Given the description of an element on the screen output the (x, y) to click on. 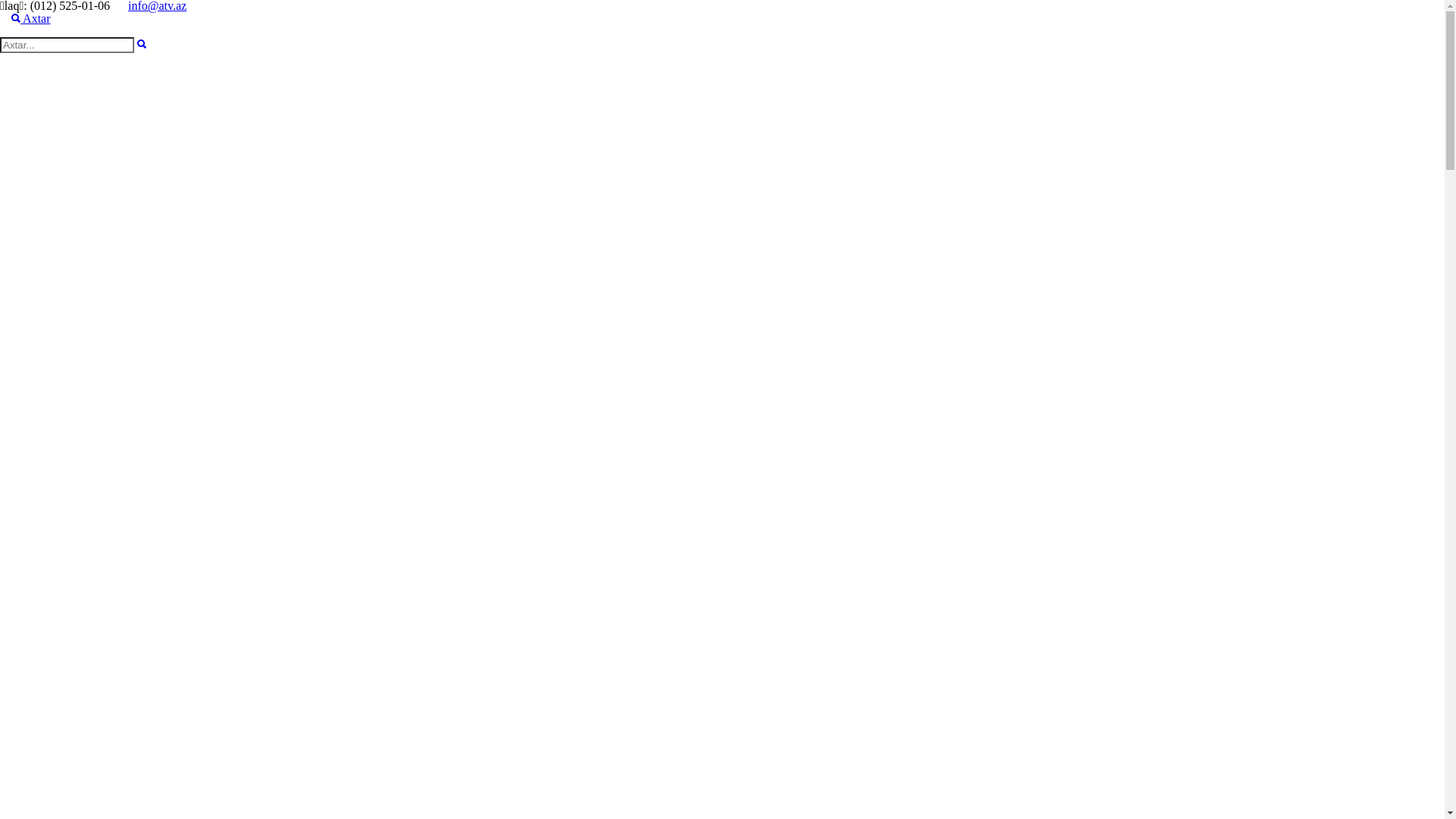
 Axtar Element type: text (30, 18)
Axtar Element type: hover (141, 43)
